Given the description of an element on the screen output the (x, y) to click on. 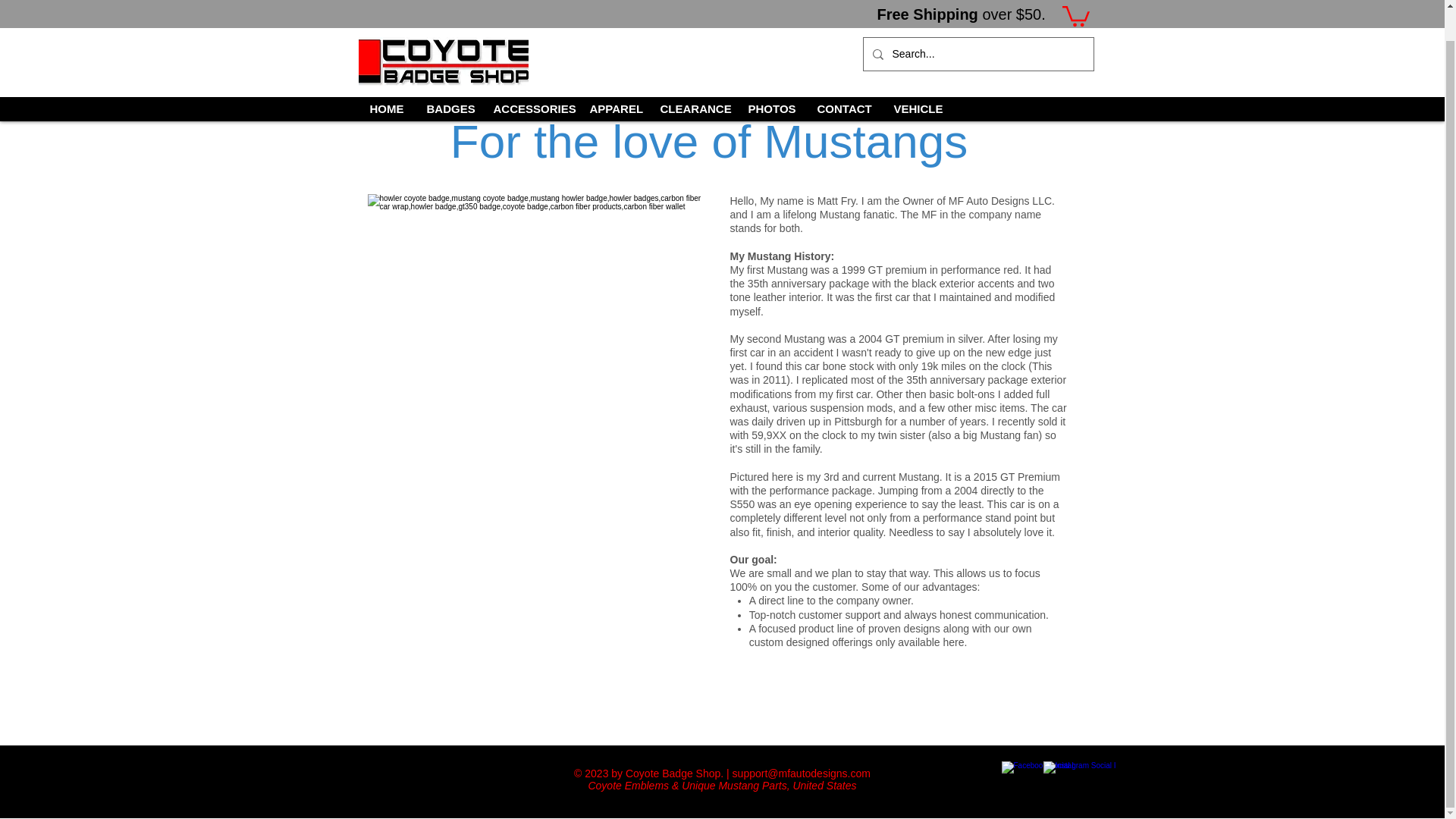
APPAREL (612, 77)
PHOTOS (771, 77)
ACCESSORIES (529, 77)
HOME (386, 77)
BADGES (447, 77)
CLEARANCE (692, 77)
CONTACT (843, 77)
